Given the description of an element on the screen output the (x, y) to click on. 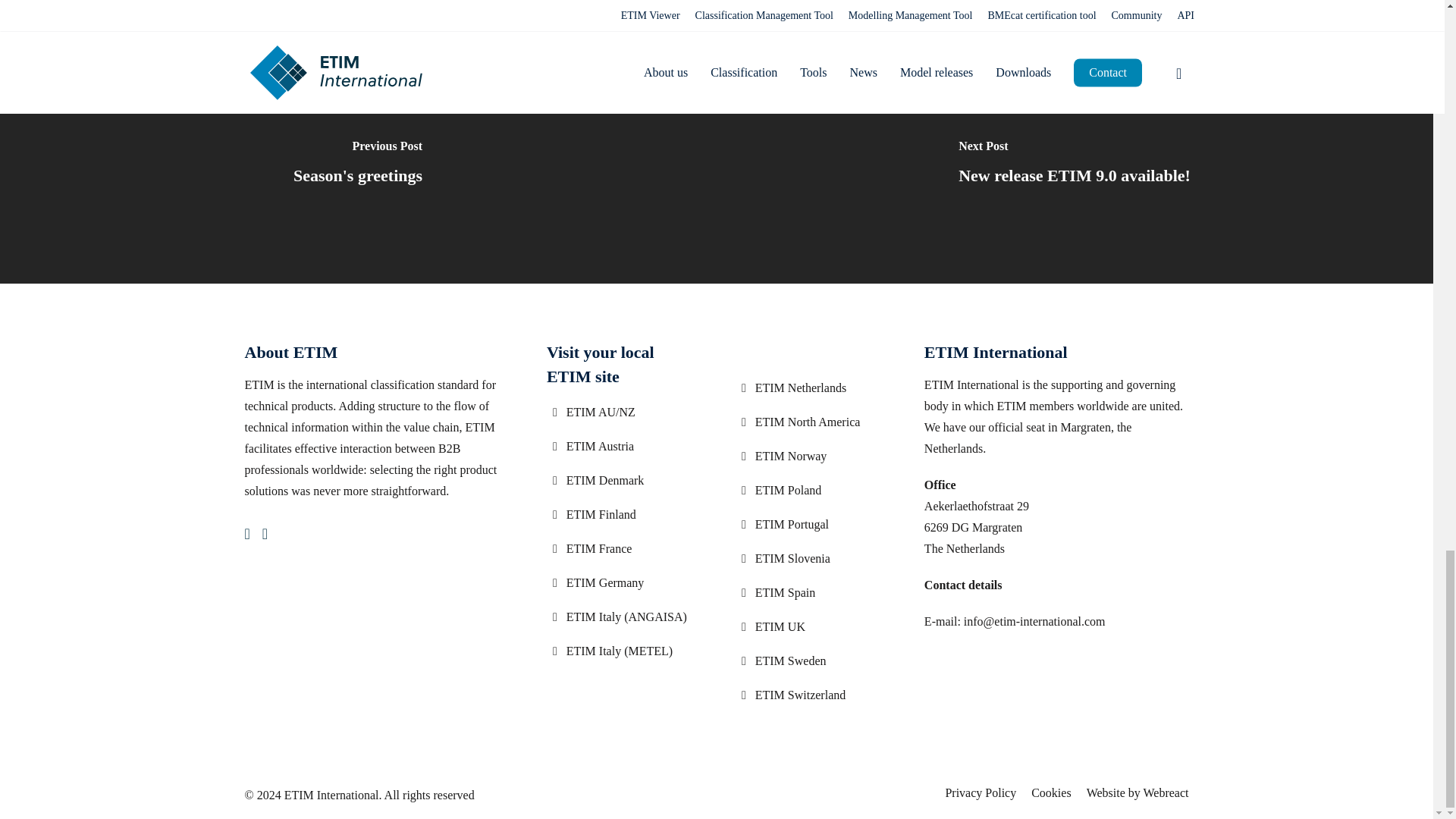
ETIM Germany (622, 582)
ETIM France (622, 548)
ETIM Finland (622, 514)
ETIM Denmark (622, 480)
ETIM Austria (622, 446)
